Given the description of an element on the screen output the (x, y) to click on. 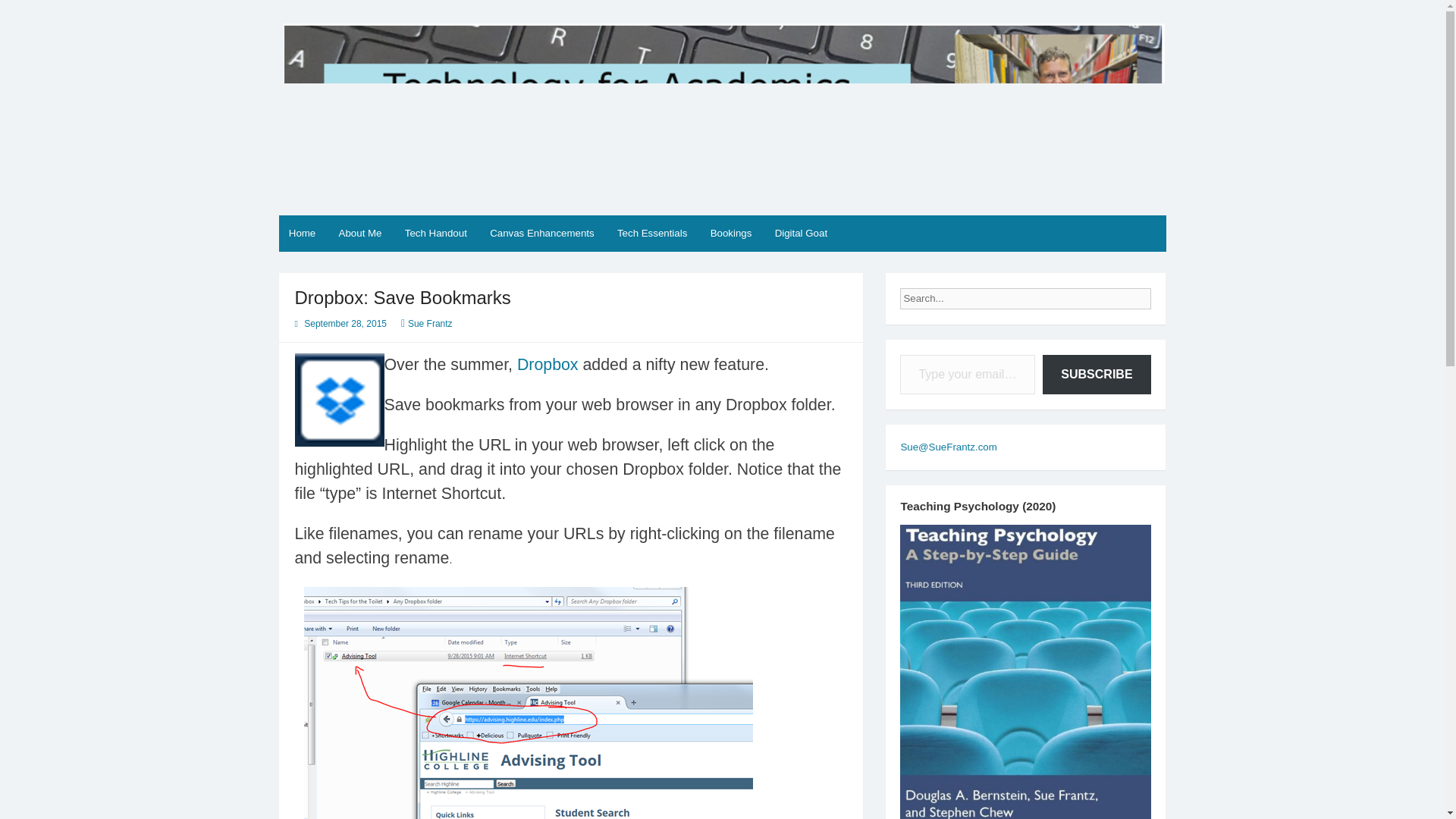
September 28, 2015 (345, 323)
Home (302, 233)
Search (1163, 294)
Search (1163, 294)
SUBSCRIBE (1096, 374)
Bookings (730, 233)
Please fill in this field. (967, 374)
Canvas Enhancements (542, 233)
Purchase  (1024, 699)
Sue Frantz (429, 323)
